Given the description of an element on the screen output the (x, y) to click on. 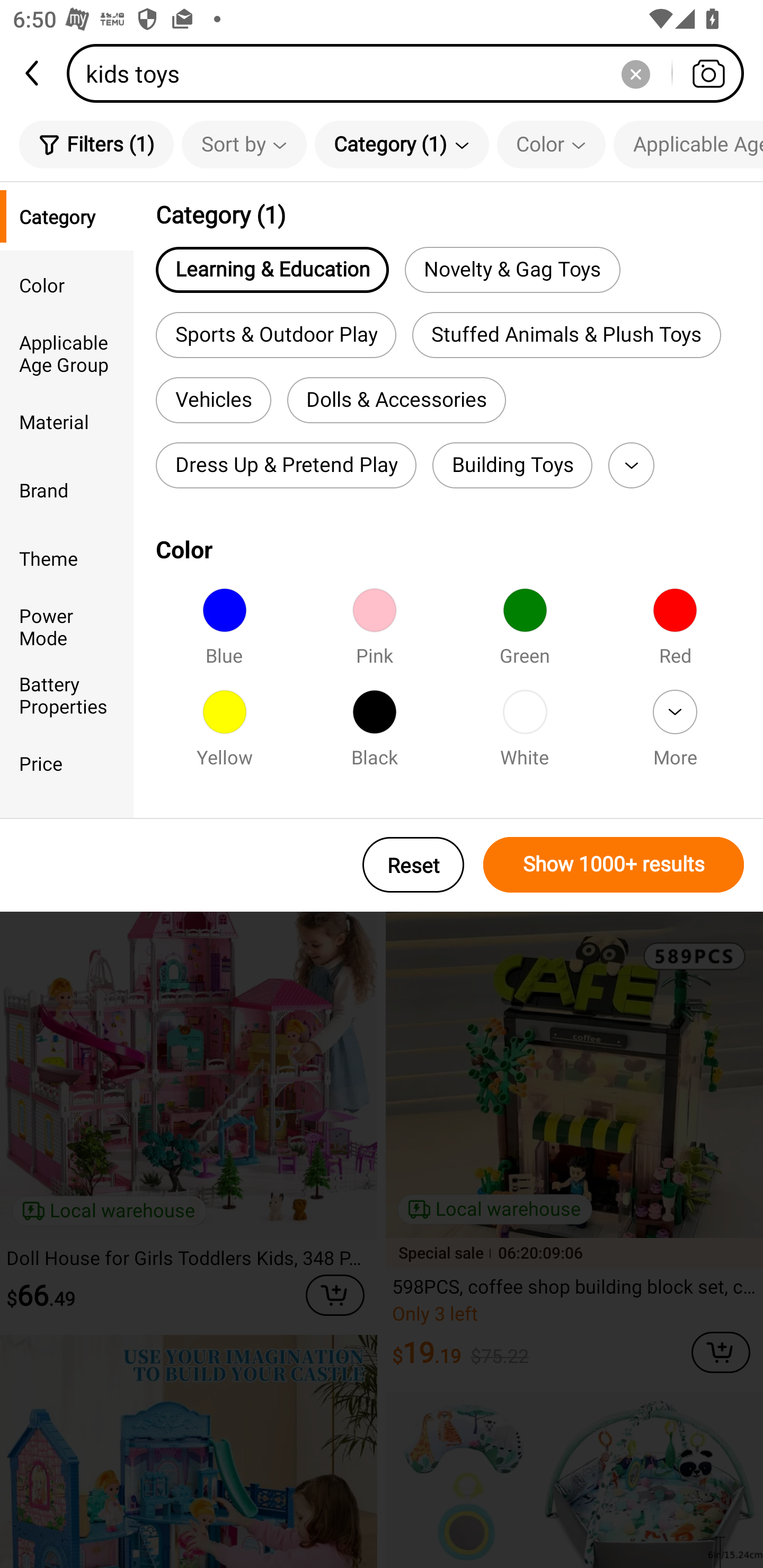
back (33, 72)
kids toys (411, 73)
Delete search history (635, 73)
Search by photo (708, 73)
Filters (1) (96, 143)
Sort by (243, 143)
Category (1) (401, 143)
Color (550, 143)
Applicable Age Group (688, 143)
Category (66, 215)
Learning & Education (272, 269)
Novelty & Gag Toys (512, 269)
Color (66, 284)
Sports & Outdoor Play (275, 334)
Stuffed Animals & Plush Toys (566, 334)
Applicable Age Group (66, 352)
Vehicles (213, 400)
Dolls & Accessories (395, 400)
Material (66, 421)
Dress Up & Pretend Play (285, 464)
Building Toys (512, 464)
More (631, 464)
Brand (66, 489)
Theme (66, 557)
Pink (374, 632)
Power Mode (66, 626)
Battery Properties (66, 694)
Yellow (224, 734)
More (674, 734)
Price (66, 762)
Reset (412, 864)
Show 1000+ results (612, 864)
